Given the description of an element on the screen output the (x, y) to click on. 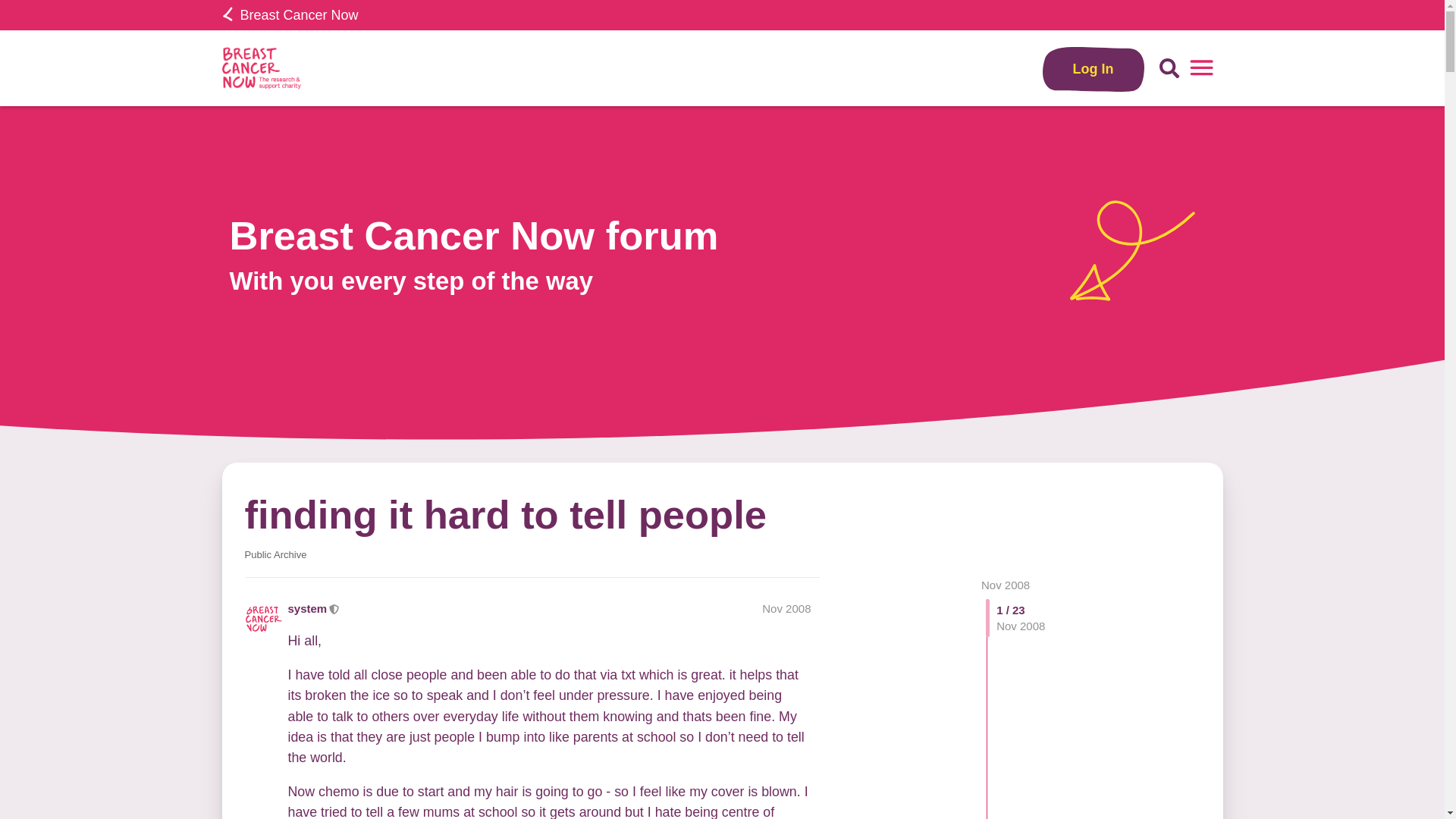
Log In (1093, 68)
Breast Cancer Now (289, 15)
system (307, 608)
Archived posts which are available to view. (274, 554)
menu (1201, 67)
This user is a moderator (334, 608)
Nov 2008 (785, 608)
Nov 2008 (1005, 584)
Nov 2008 (1005, 584)
Search (1169, 68)
